Given the description of an element on the screen output the (x, y) to click on. 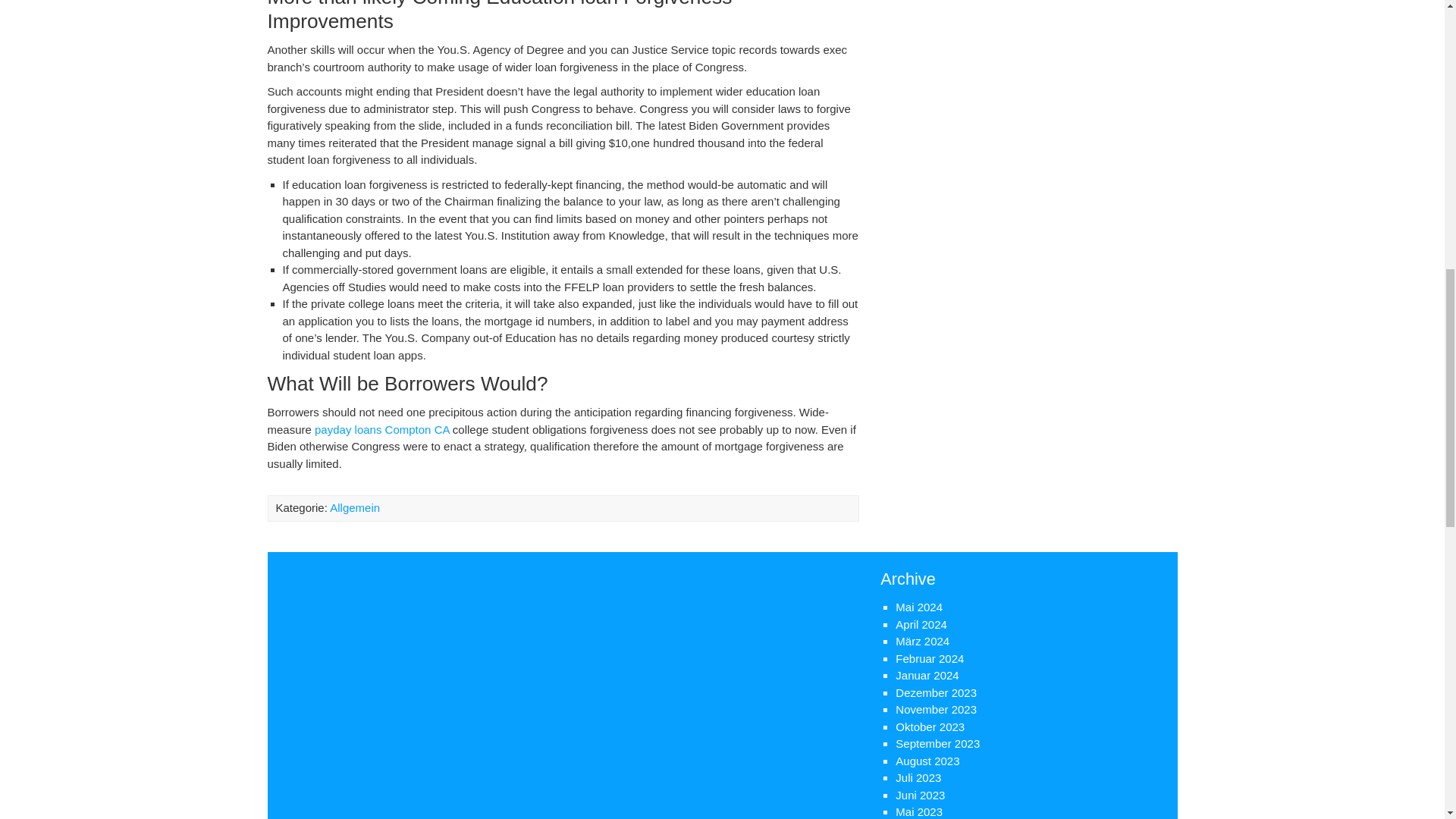
Allgemein (355, 507)
Oktober 2023 (929, 726)
Mai 2023 (918, 811)
payday loans Compton CA (381, 429)
Juli 2023 (917, 777)
August 2023 (927, 760)
Mai 2024 (918, 606)
Dezember 2023 (935, 692)
April 2024 (921, 624)
Juni 2023 (919, 794)
